Given the description of an element on the screen output the (x, y) to click on. 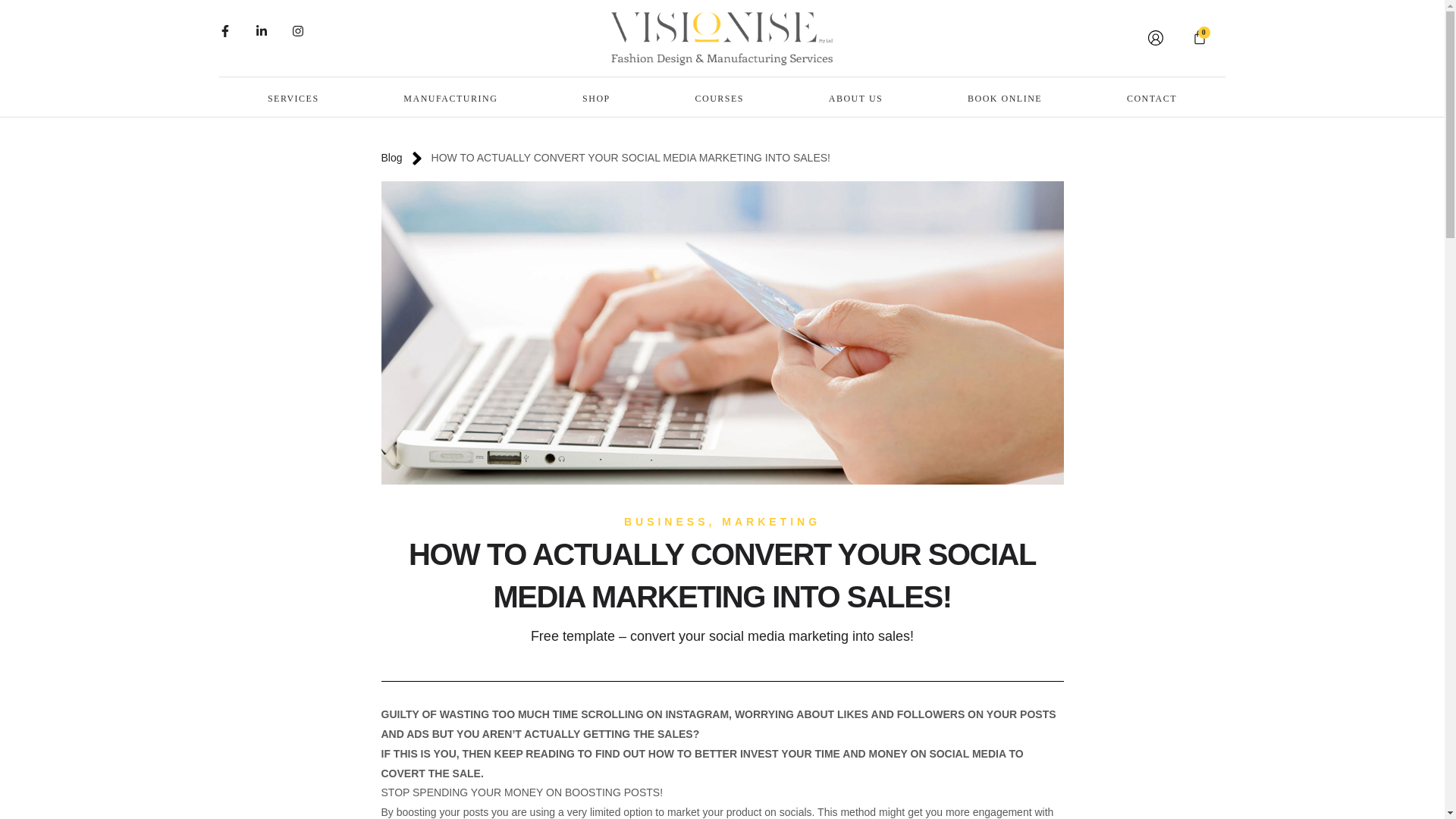
Instagram (303, 37)
COURSES (719, 98)
SHOP (596, 98)
SERVICES (293, 98)
Linkedin-in (267, 37)
Facebook-f (231, 37)
ABOUT US (855, 98)
CONTACT (1152, 98)
BOOK ONLINE (1004, 98)
MANUFACTURING (450, 98)
